Given the description of an element on the screen output the (x, y) to click on. 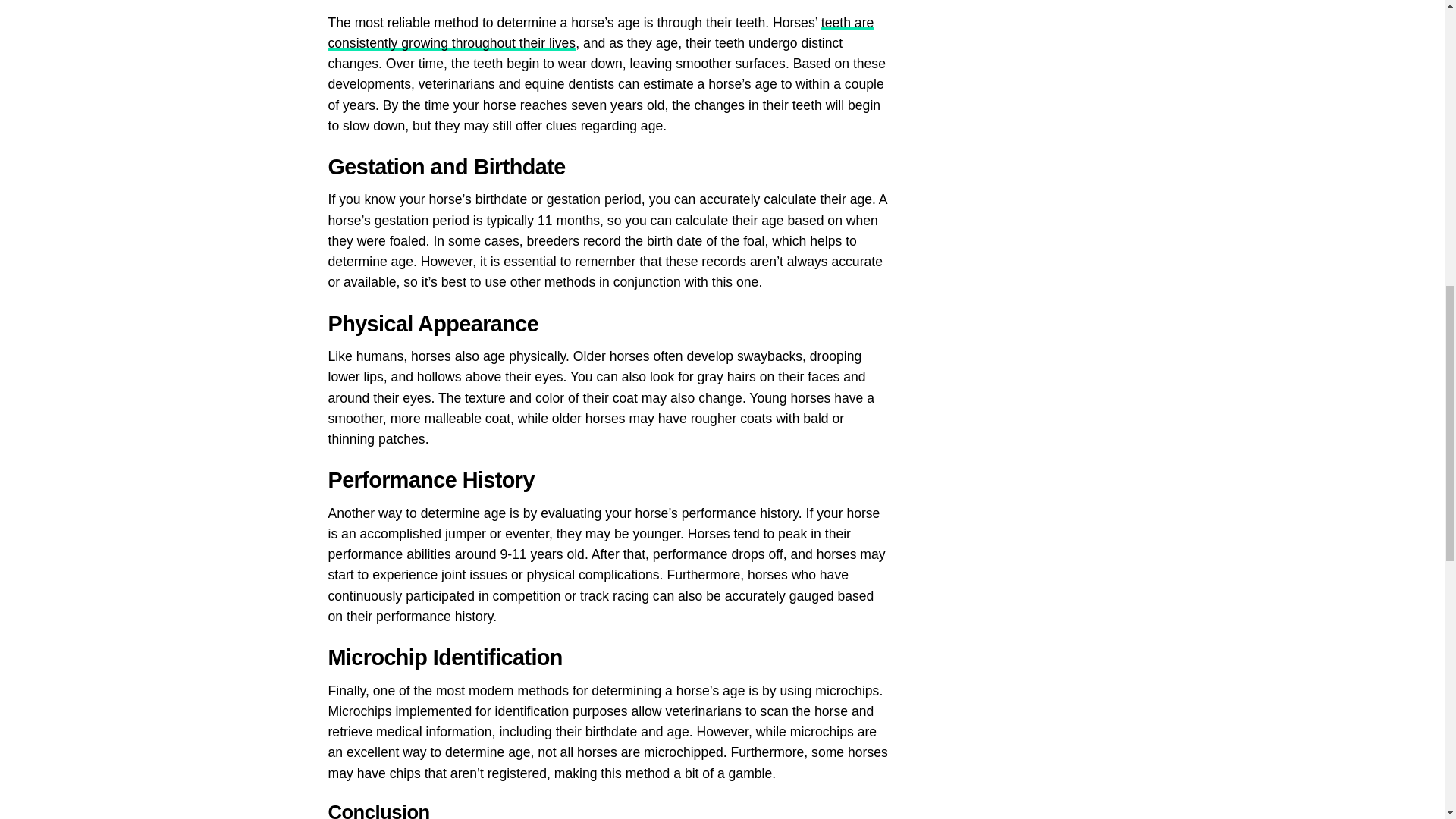
teeth are consistently growing throughout their lives (600, 32)
